Given the description of an element on the screen output the (x, y) to click on. 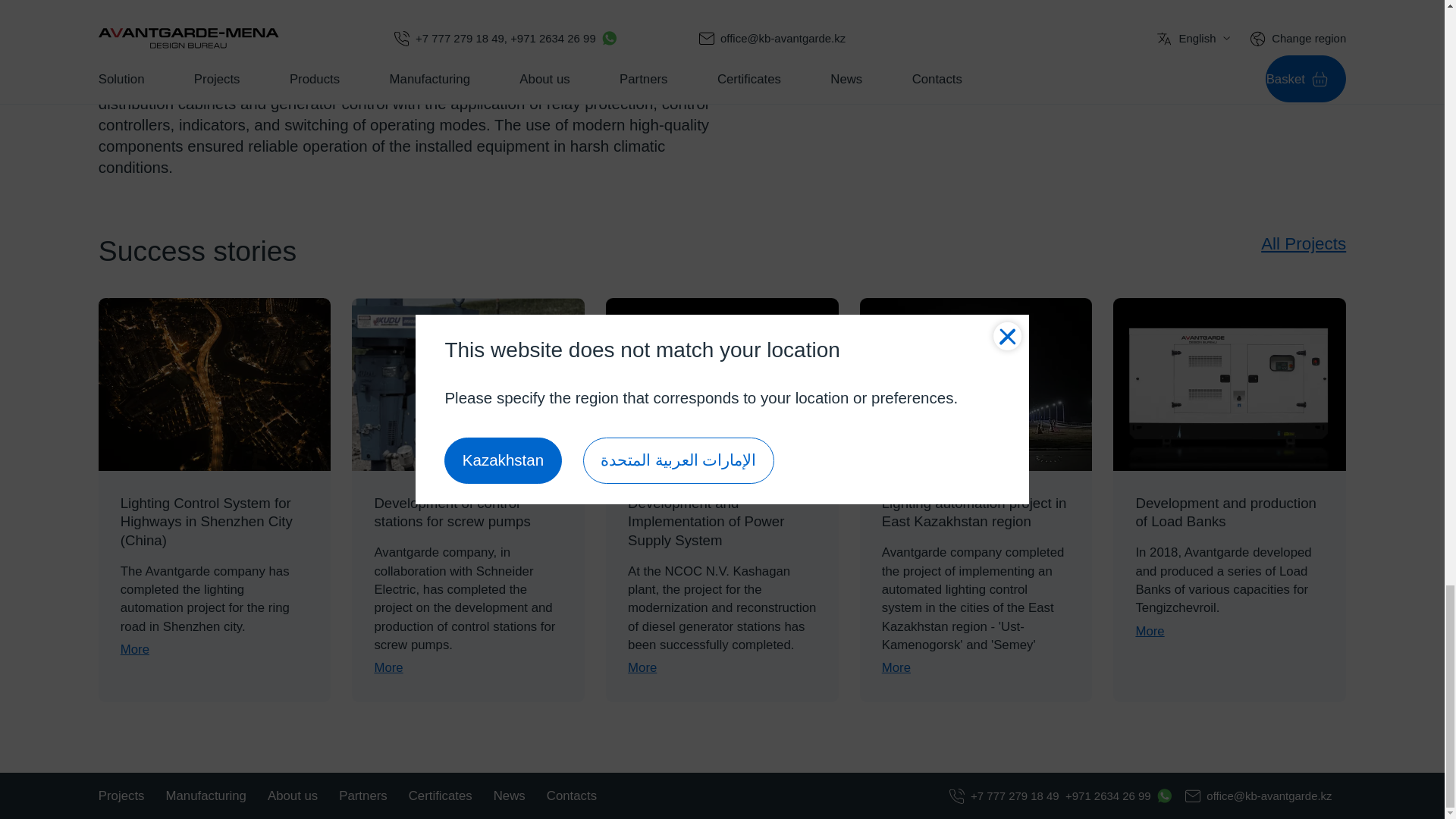
Development of control stations for screw pumps (468, 384)
Development and Implementation of Power Supply System (721, 384)
Development and production of Load Banks (1229, 384)
Lighting automation project in East Kazakhstan region (976, 384)
